Given the description of an element on the screen output the (x, y) to click on. 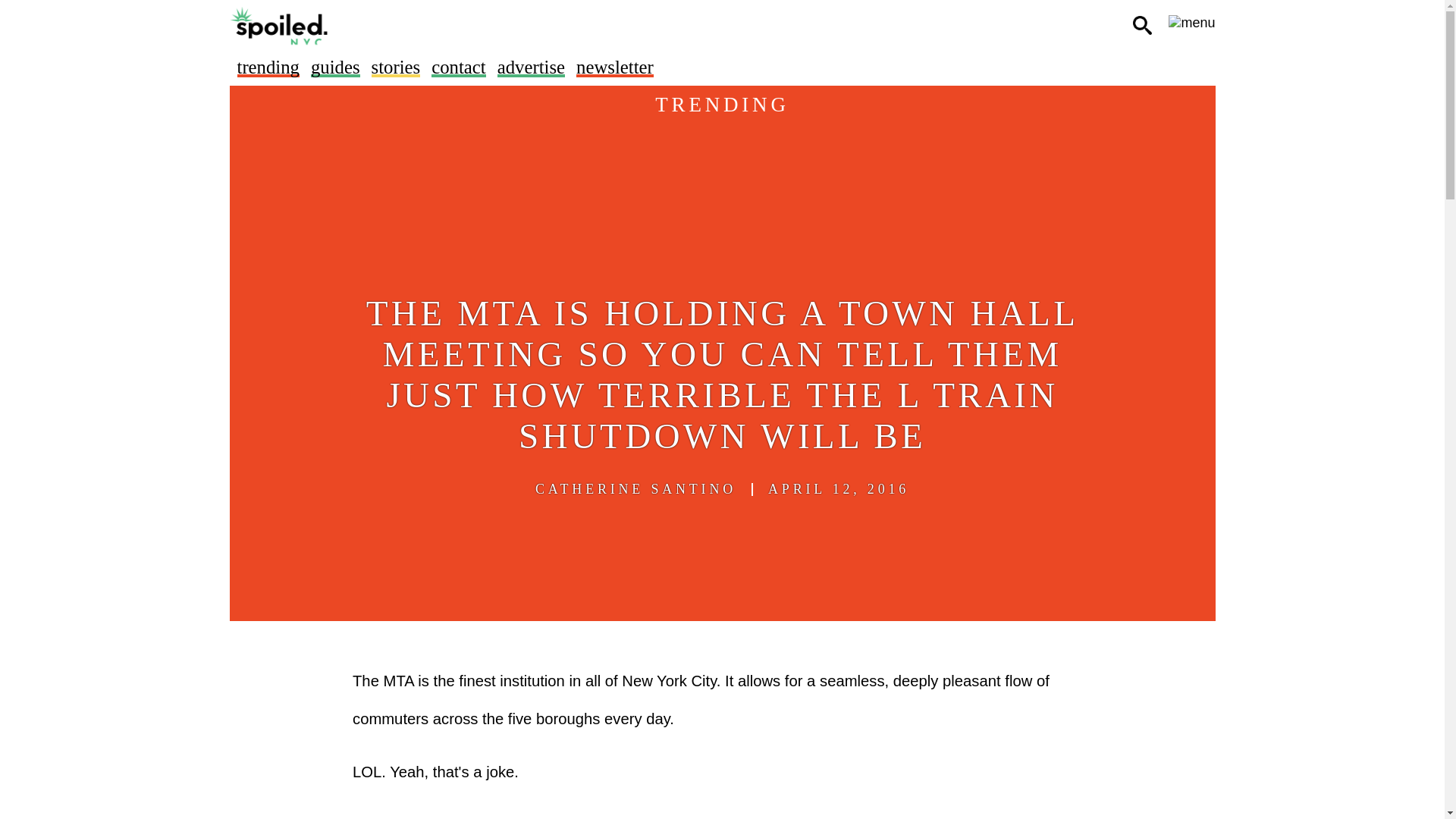
stories (395, 66)
advertise (530, 66)
contact (457, 66)
guides (335, 66)
CATHERINE SANTINO (635, 489)
trending (266, 66)
TRENDING (722, 104)
newsletter (614, 66)
